Given the description of an element on the screen output the (x, y) to click on. 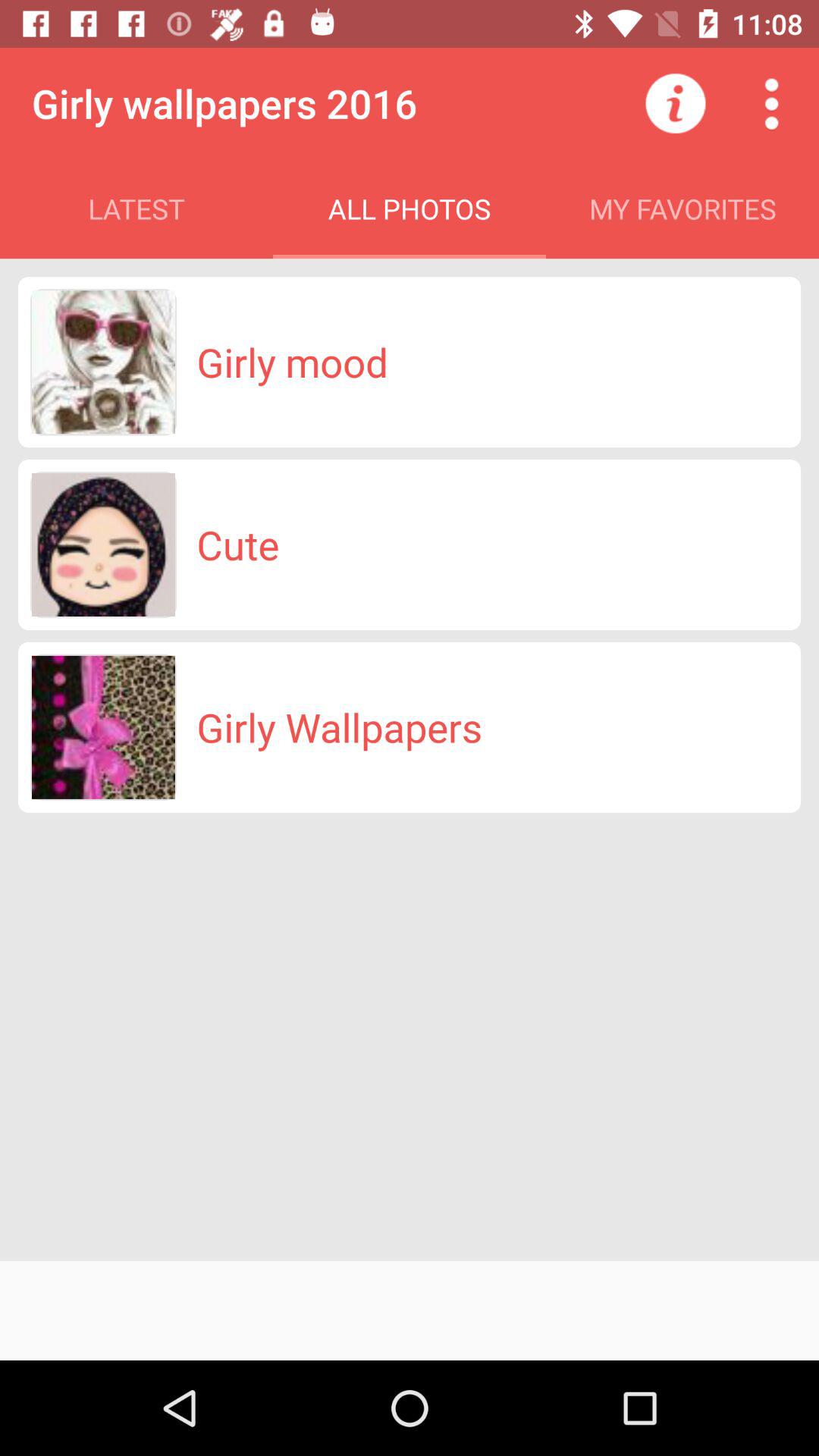
click the item above the my favorites icon (675, 103)
